Given the description of an element on the screen output the (x, y) to click on. 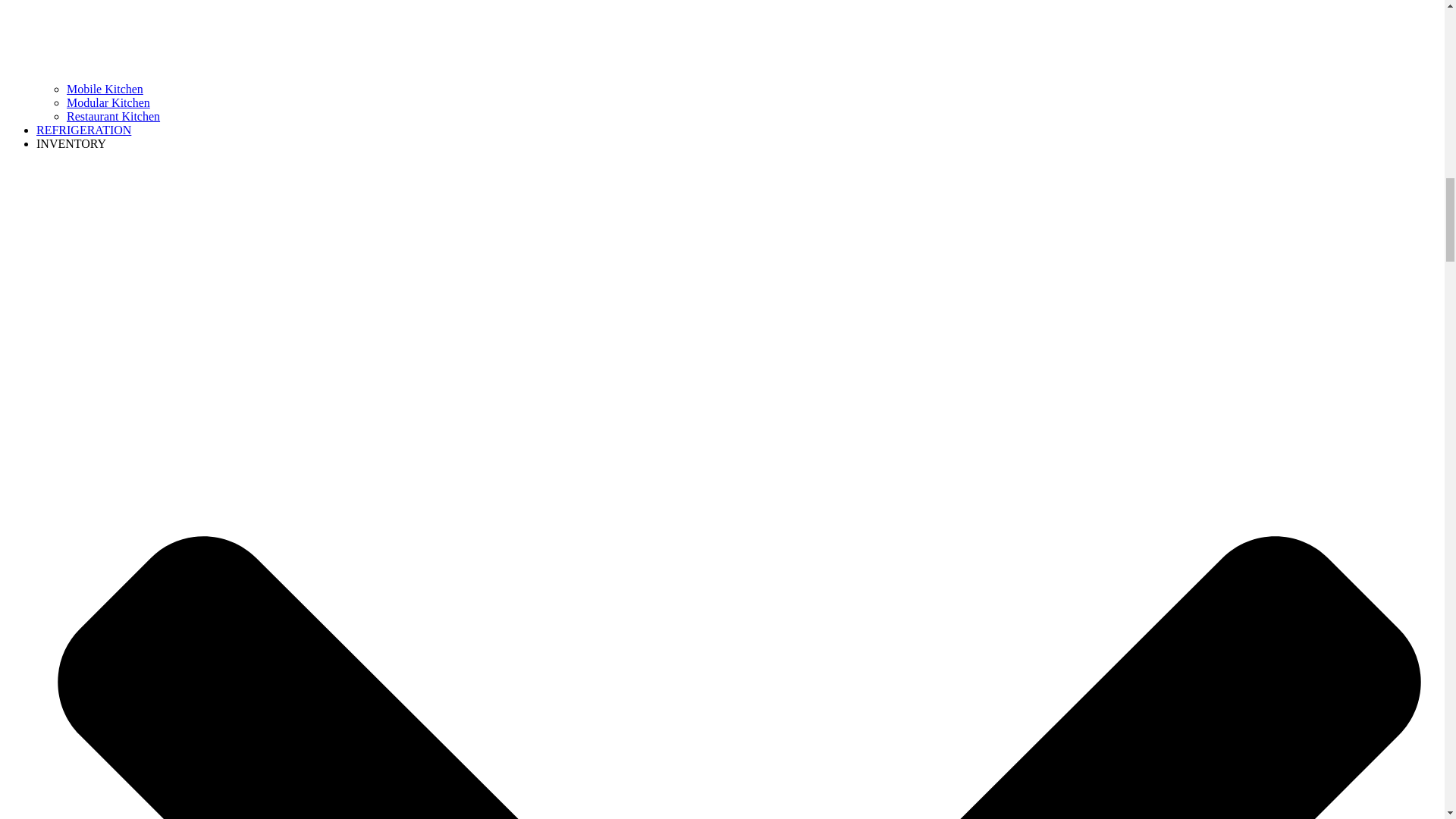
REFRIGERATION (83, 129)
Restaurant Kitchen (113, 115)
MOBILE REFRIGERATION (83, 129)
Mobile Kitchen (104, 88)
INVENTORY (71, 143)
Modular Kitchen (107, 102)
